Given the description of an element on the screen output the (x, y) to click on. 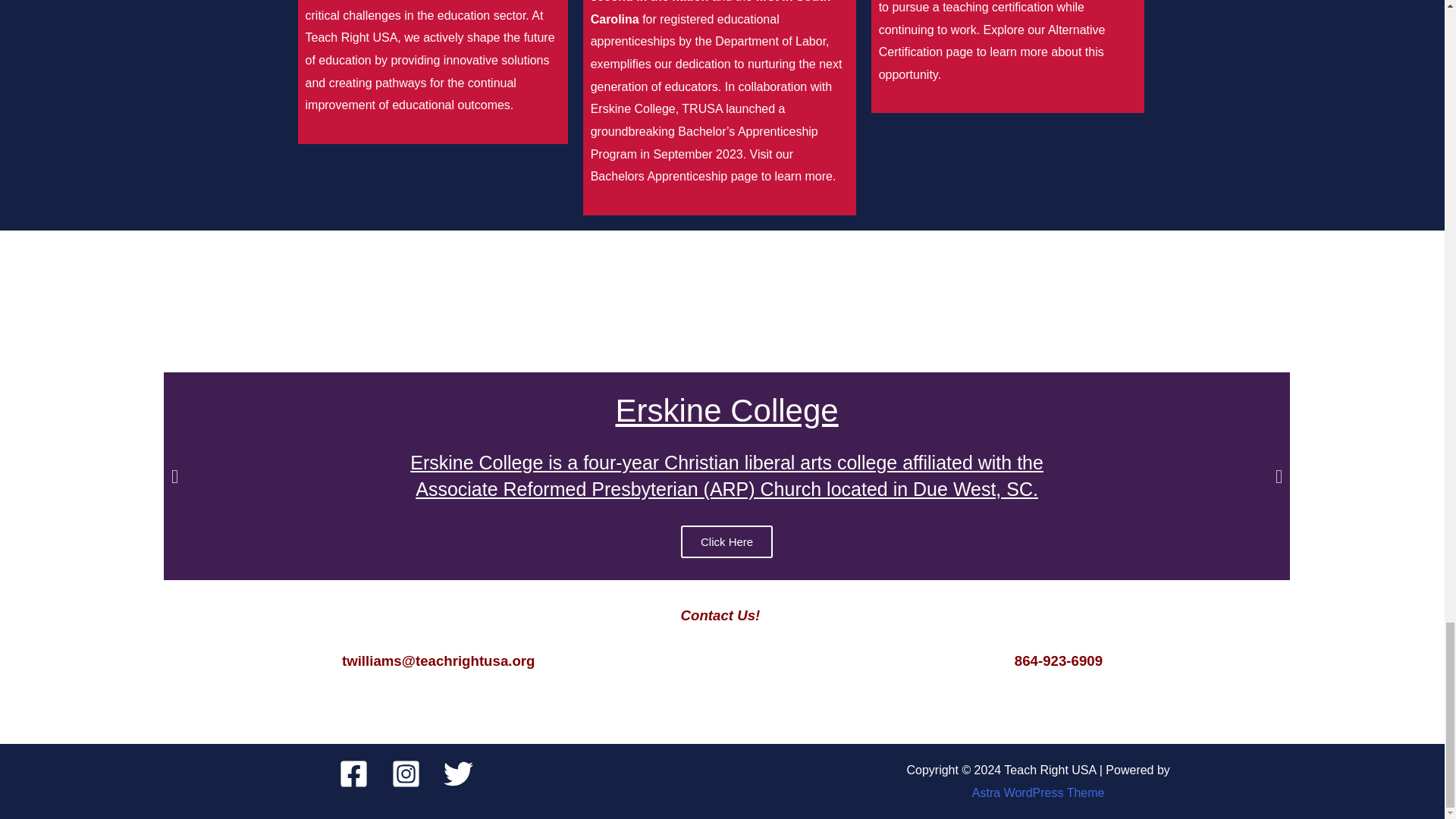
Astra WordPress Theme (1038, 792)
